Given the description of an element on the screen output the (x, y) to click on. 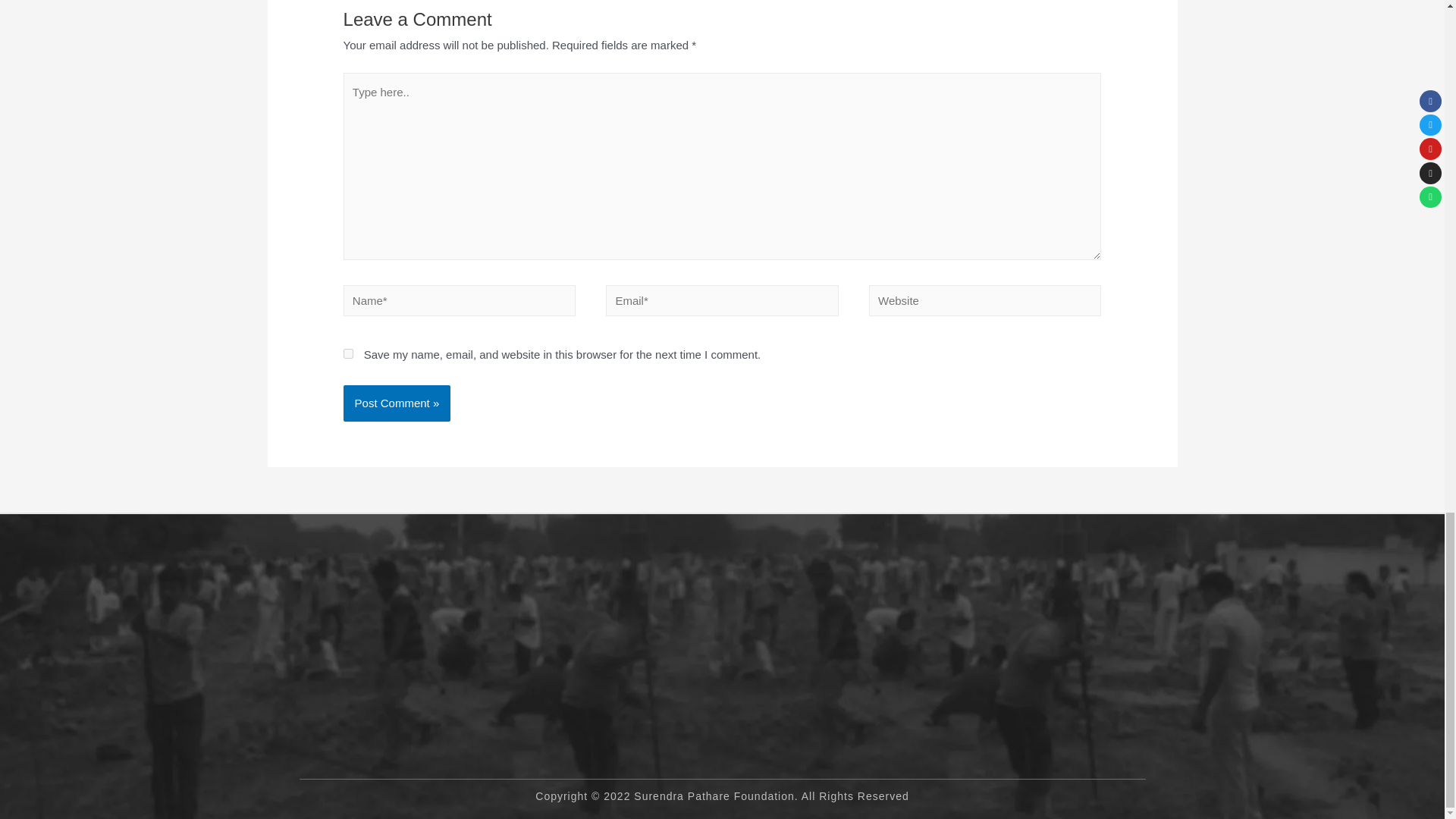
yes (348, 353)
